Given the description of an element on the screen output the (x, y) to click on. 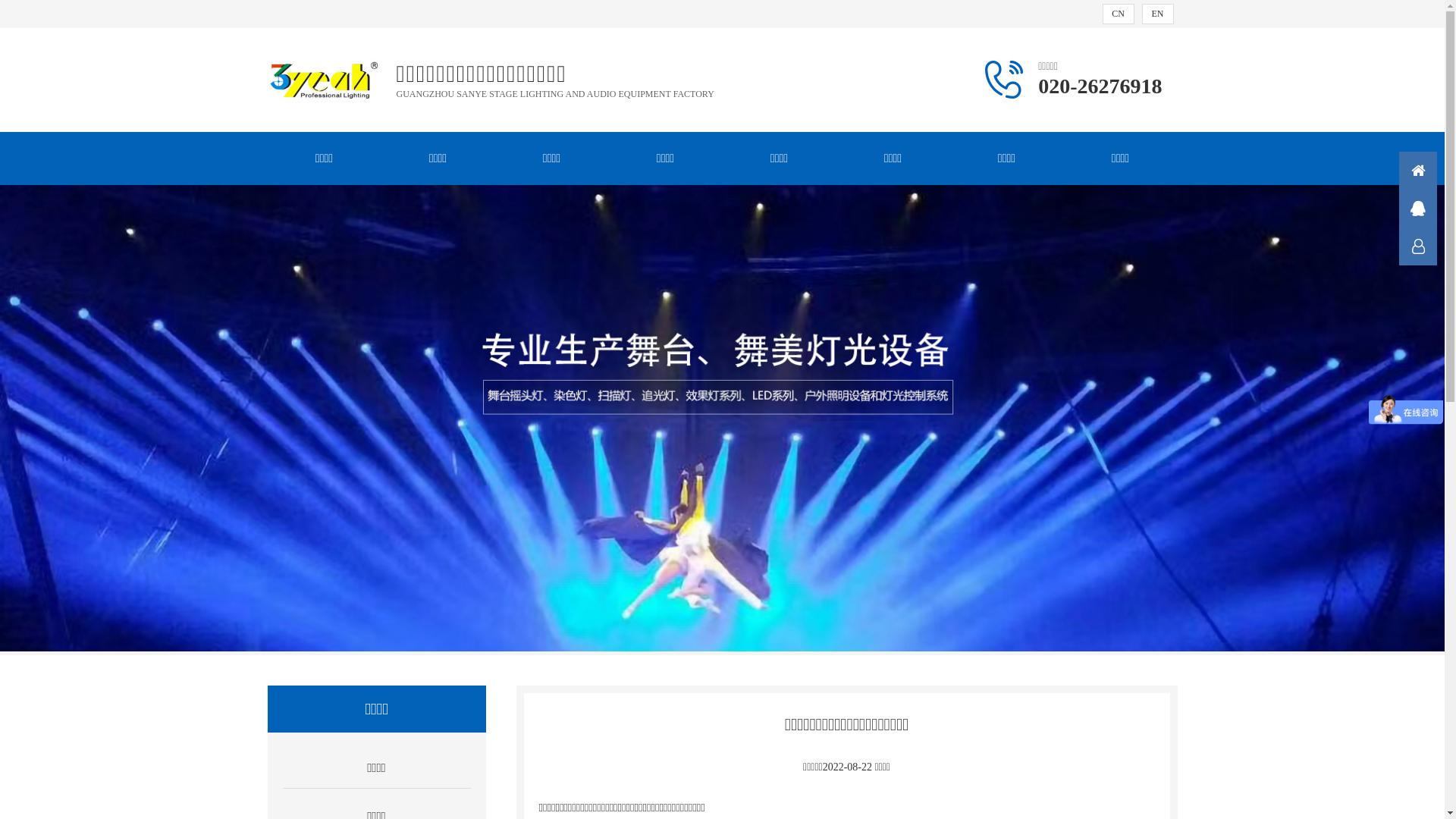
CN Element type: text (1118, 13)
EN Element type: text (1157, 13)
QQ Element type: text (1418, 208)
